Given the description of an element on the screen output the (x, y) to click on. 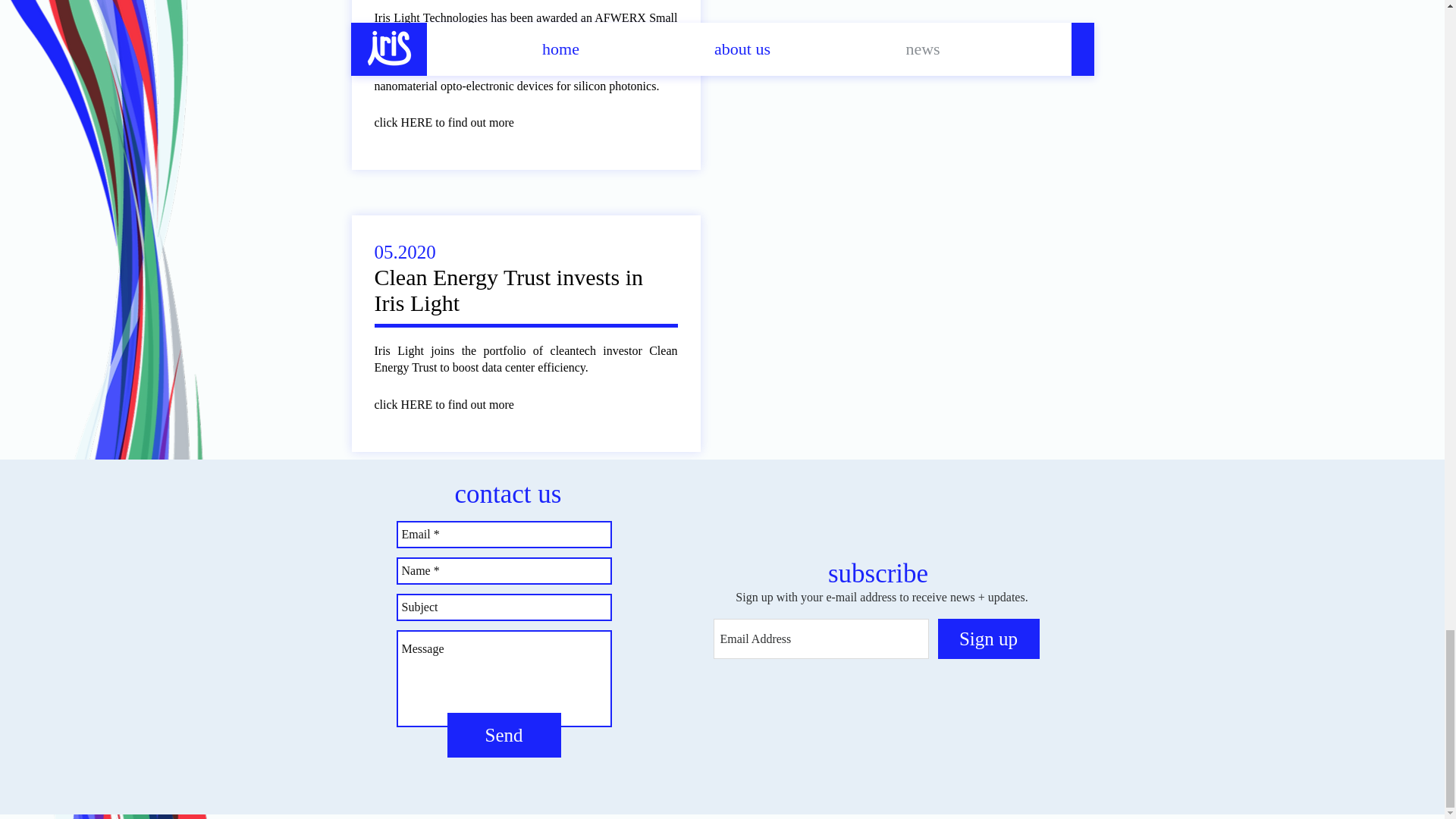
Sign up (988, 639)
click HERE to find out more (455, 404)
Send (503, 734)
click HERE to find out more (455, 122)
